Given the description of an element on the screen output the (x, y) to click on. 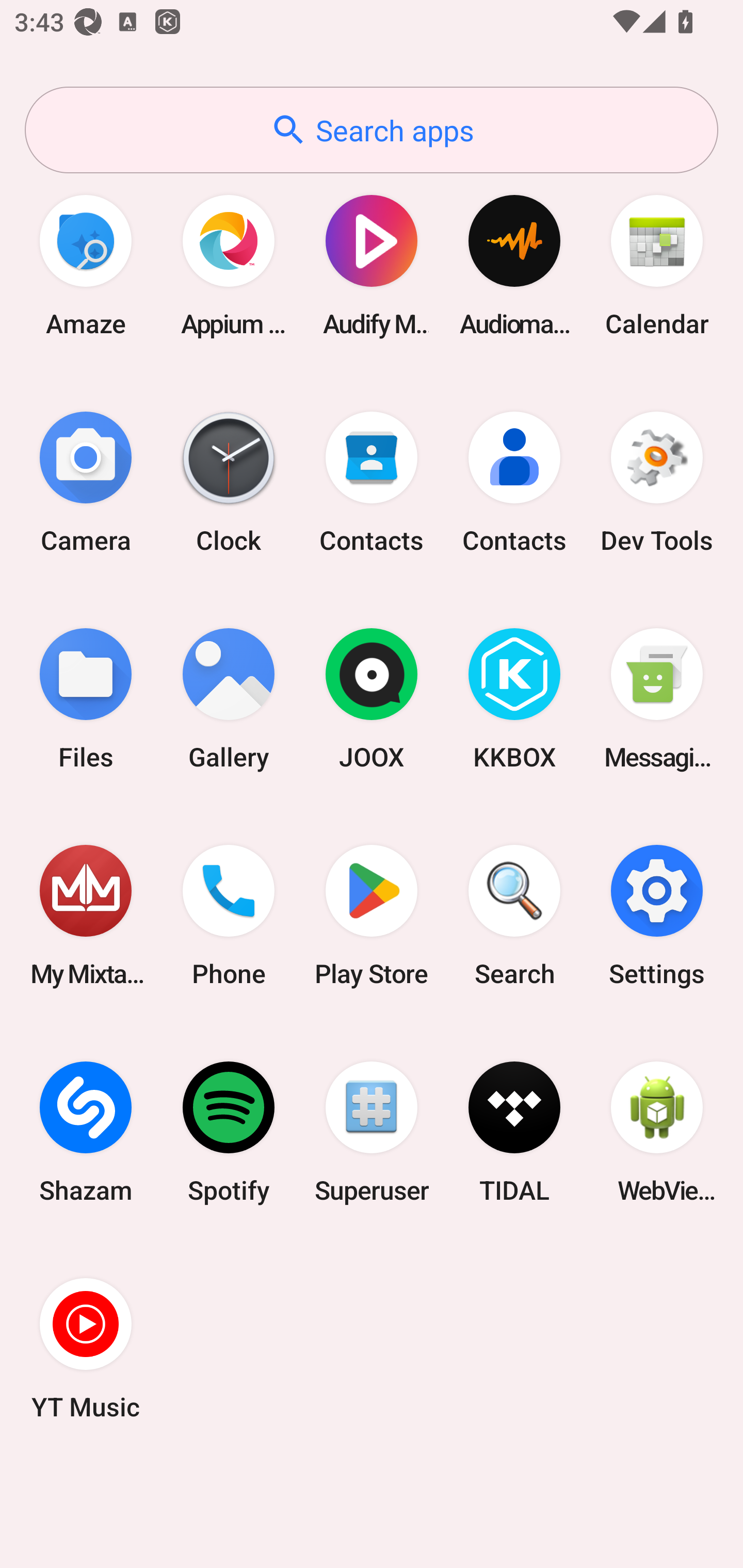
  Search apps (371, 130)
Amaze (85, 264)
Appium Settings (228, 264)
Audify Music Player (371, 264)
Audio­mack (514, 264)
Calendar (656, 264)
Camera (85, 482)
Clock (228, 482)
Contacts (371, 482)
Contacts (514, 482)
Dev Tools (656, 482)
Files (85, 699)
Gallery (228, 699)
JOOX (371, 699)
KKBOX (514, 699)
Messaging (656, 699)
My Mixtapez (85, 915)
Phone (228, 915)
Play Store (371, 915)
Search (514, 915)
Settings (656, 915)
Shazam (85, 1131)
Spotify (228, 1131)
Superuser (371, 1131)
TIDAL (514, 1131)
WebView Browser Tester (656, 1131)
YT Music (85, 1348)
